Given the description of an element on the screen output the (x, y) to click on. 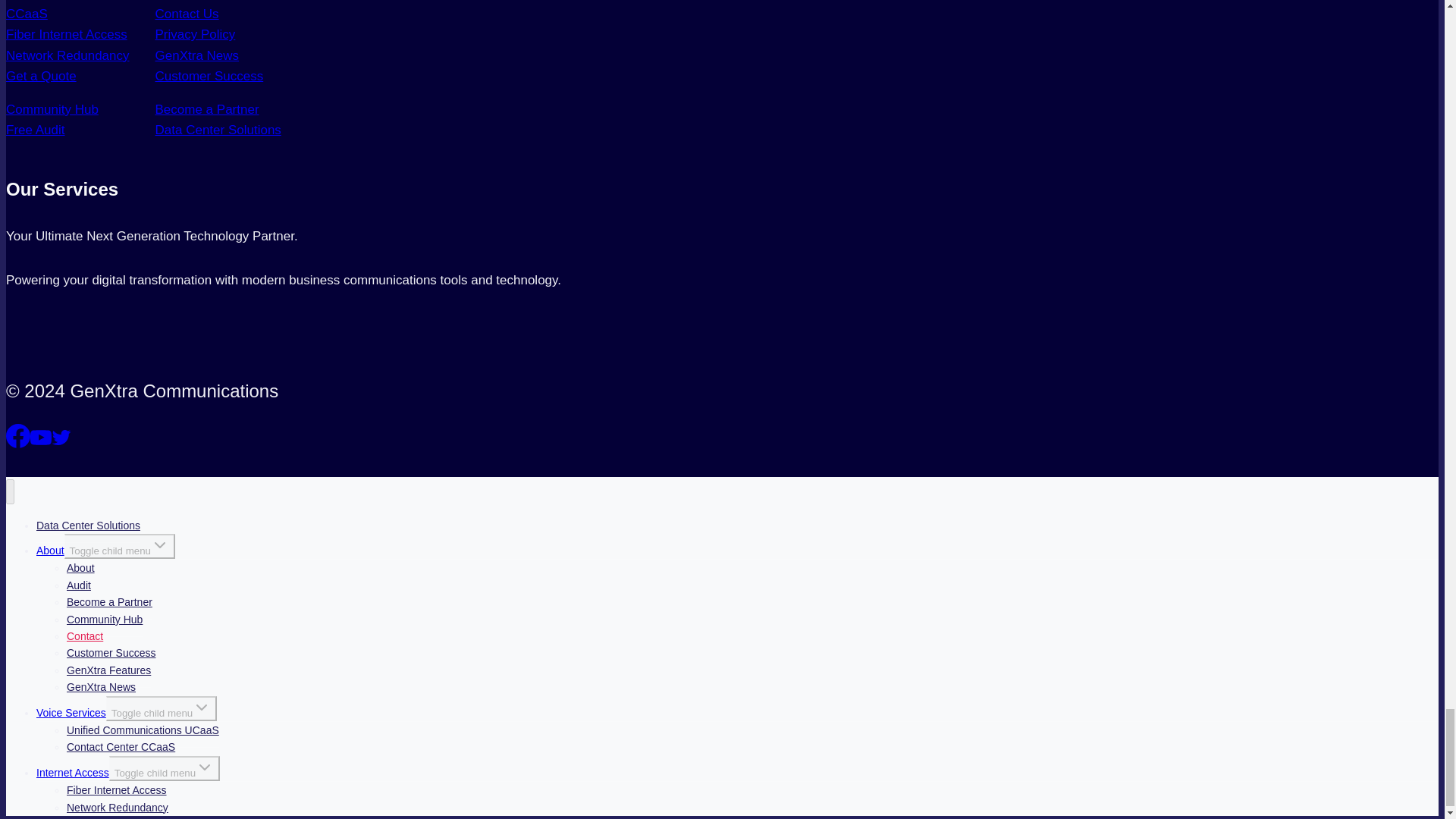
YouTube (40, 436)
Fiber Internet Access (66, 34)
UCaaS (26, 0)
Expand (204, 767)
CCaaS (26, 13)
Facebook (17, 435)
Expand (201, 707)
Network Redundancy (67, 55)
Expand (159, 545)
Twitter (60, 436)
